Given the description of an element on the screen output the (x, y) to click on. 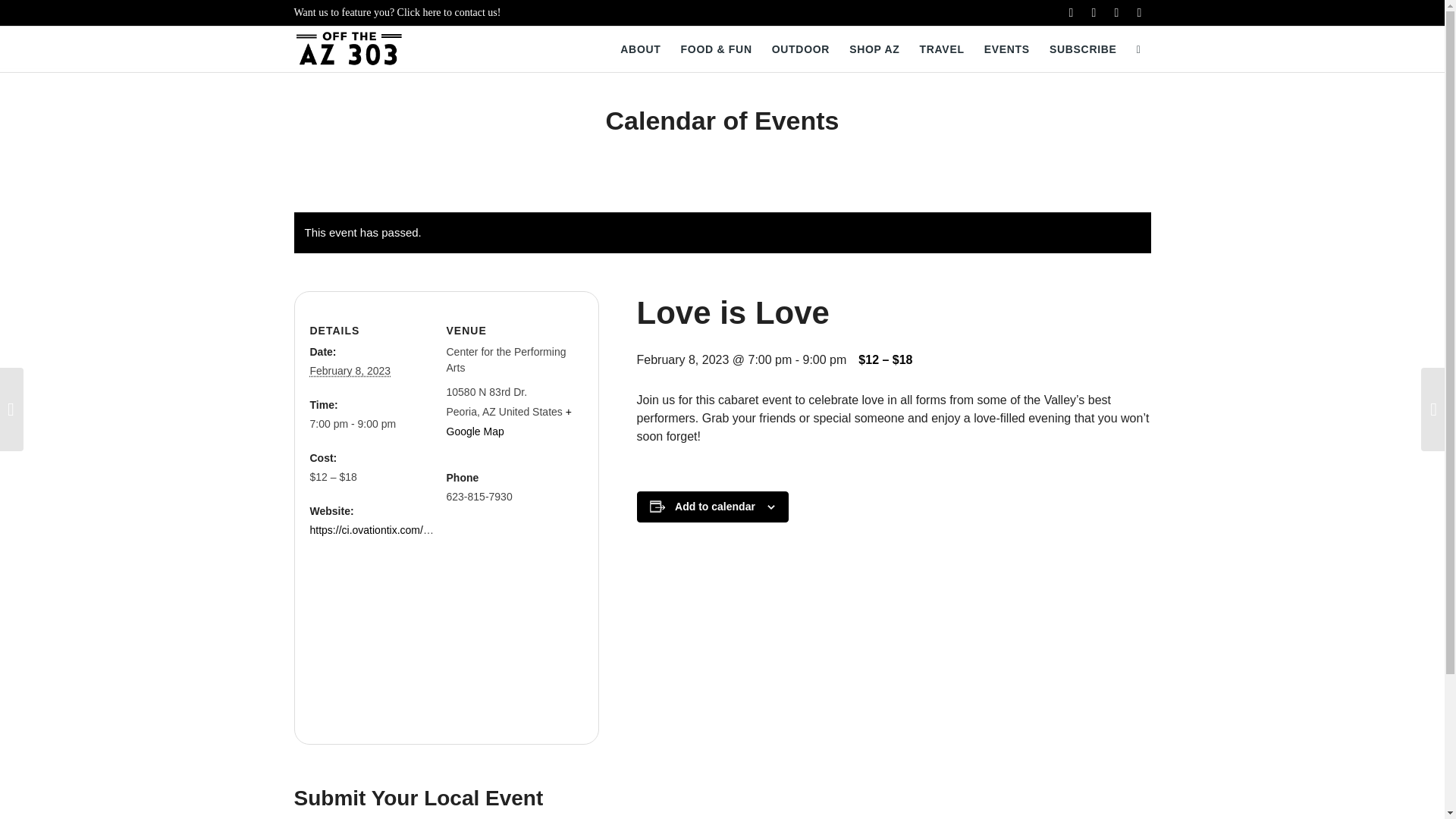
Click here to contact us! (448, 12)
2023-02-08 (349, 370)
Click to view a Google Map (507, 421)
offtheaz303-logo (349, 49)
Instagram (1094, 12)
Add to calendar (715, 506)
EVENTS (1006, 49)
Pinterest (1116, 12)
2023-02-08 (371, 424)
Facebook (1071, 12)
